Given the description of an element on the screen output the (x, y) to click on. 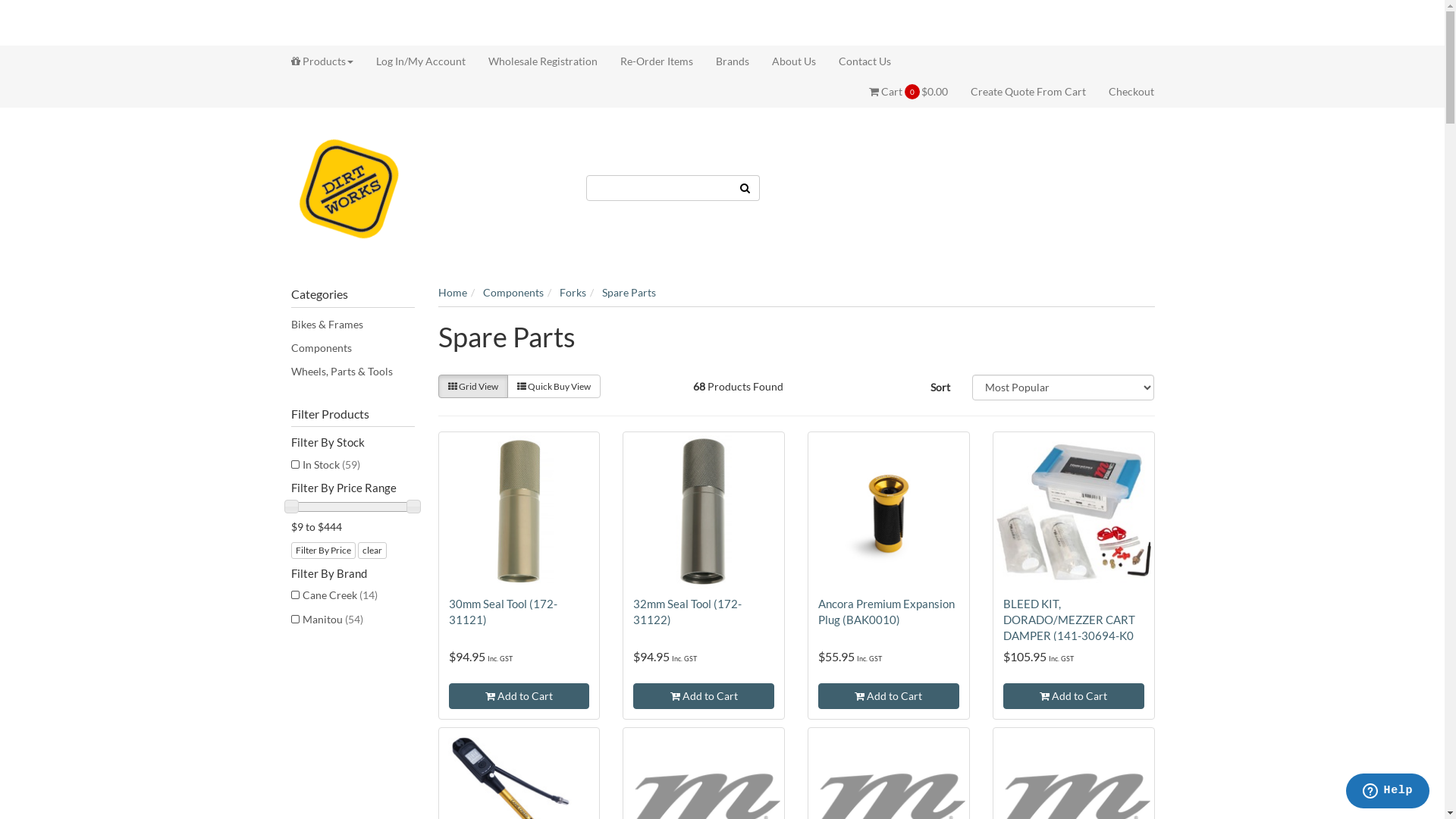
Wholesale Registration Element type: text (542, 61)
Filter By Price Element type: text (323, 550)
Add to Cart Element type: text (1073, 696)
Manitou (54) Element type: text (352, 619)
Log In/My Account Element type: text (420, 61)
Forks Element type: text (572, 291)
Components Element type: text (352, 347)
32mm Seal Tool (172-31122) Element type: text (687, 611)
Ancora Premium Expansion Plug (BAK0010) Element type: text (886, 611)
Add to Cart Element type: text (518, 696)
Components Element type: text (512, 291)
Cane Creek (14) Element type: text (352, 595)
Search Element type: text (745, 187)
Home Element type: text (452, 291)
BLEED KIT, DORADO/MEZZER CART DAMPER (141-30694-K0 Element type: text (1069, 619)
Grid View Element type: text (473, 386)
Add to Cart Element type: text (703, 696)
About Us Element type: text (792, 61)
Spare Parts Element type: text (628, 291)
In Stock (59) Element type: text (352, 464)
Filter Products Element type: text (352, 413)
Products Element type: text (327, 61)
Cart 0 $0.00 Element type: text (914, 91)
Contact Us Element type: text (858, 61)
Dirt Works Australia Element type: hover (348, 185)
clear Element type: text (371, 550)
Add to Cart Element type: text (888, 696)
Re-Order Items Element type: text (655, 61)
Create Quote From Cart Element type: text (1027, 91)
Checkout Element type: text (1124, 91)
Bikes & Frames Element type: text (352, 324)
Quick Buy View Element type: text (552, 386)
Opens a widget where you can chat to one of our agents Element type: hover (1387, 792)
30mm Seal Tool (172-31121) Element type: text (502, 611)
Wheels, Parts & Tools Element type: text (352, 371)
Brands Element type: text (731, 61)
